Given the description of an element on the screen output the (x, y) to click on. 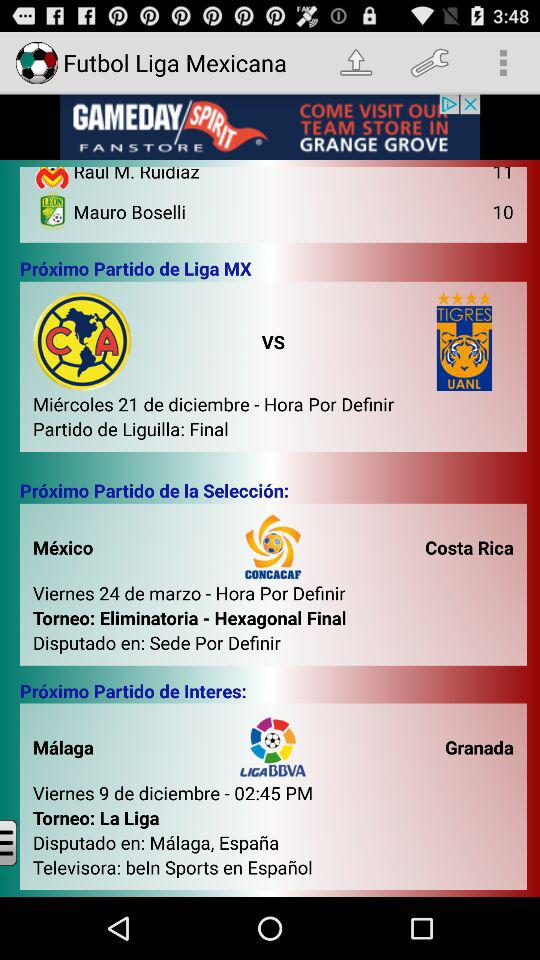
click on the logo which is above the text miercoles 21 de diciembre (82, 340)
